Given the description of an element on the screen output the (x, y) to click on. 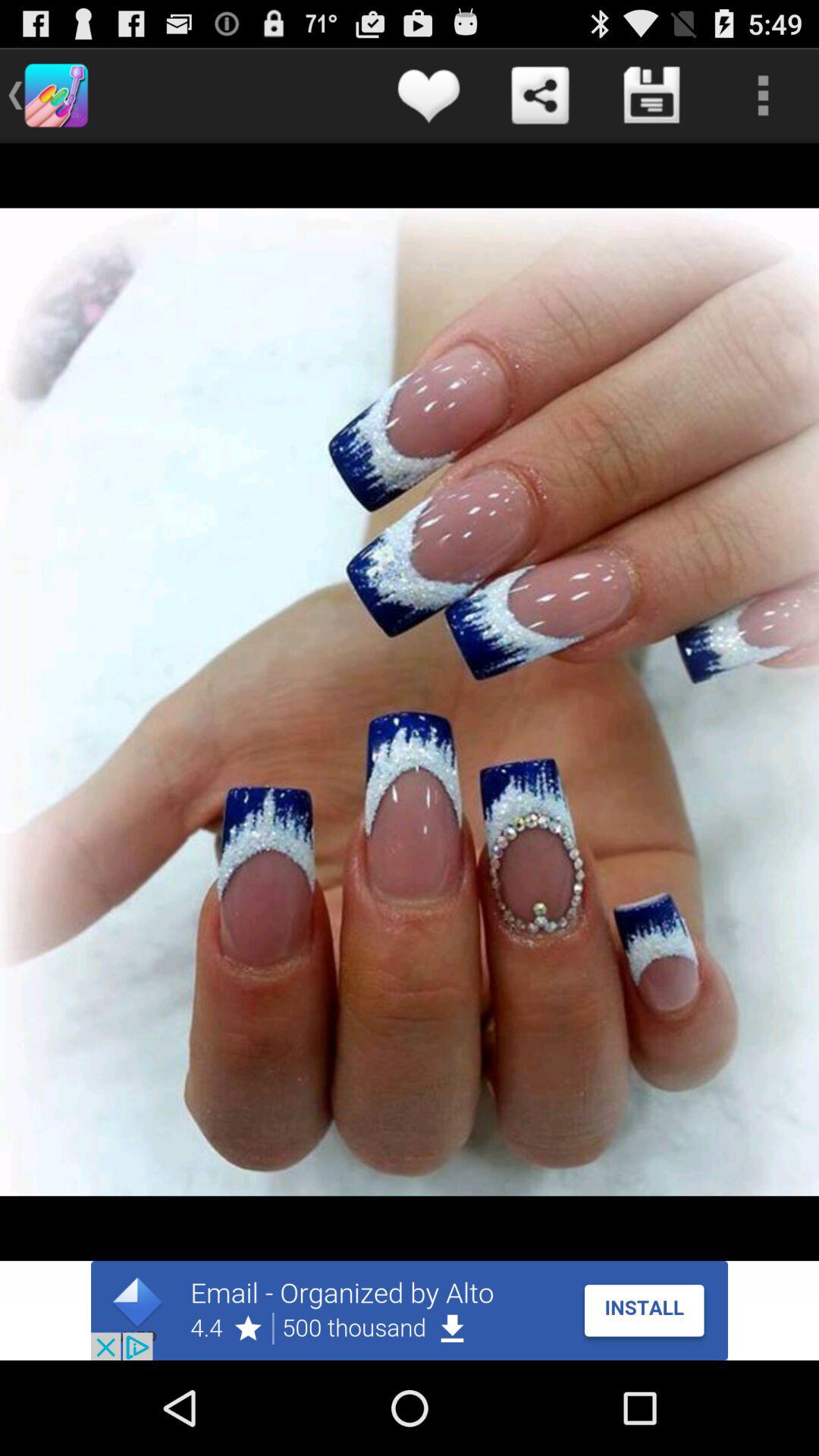
open app (409, 1310)
